Given the description of an element on the screen output the (x, y) to click on. 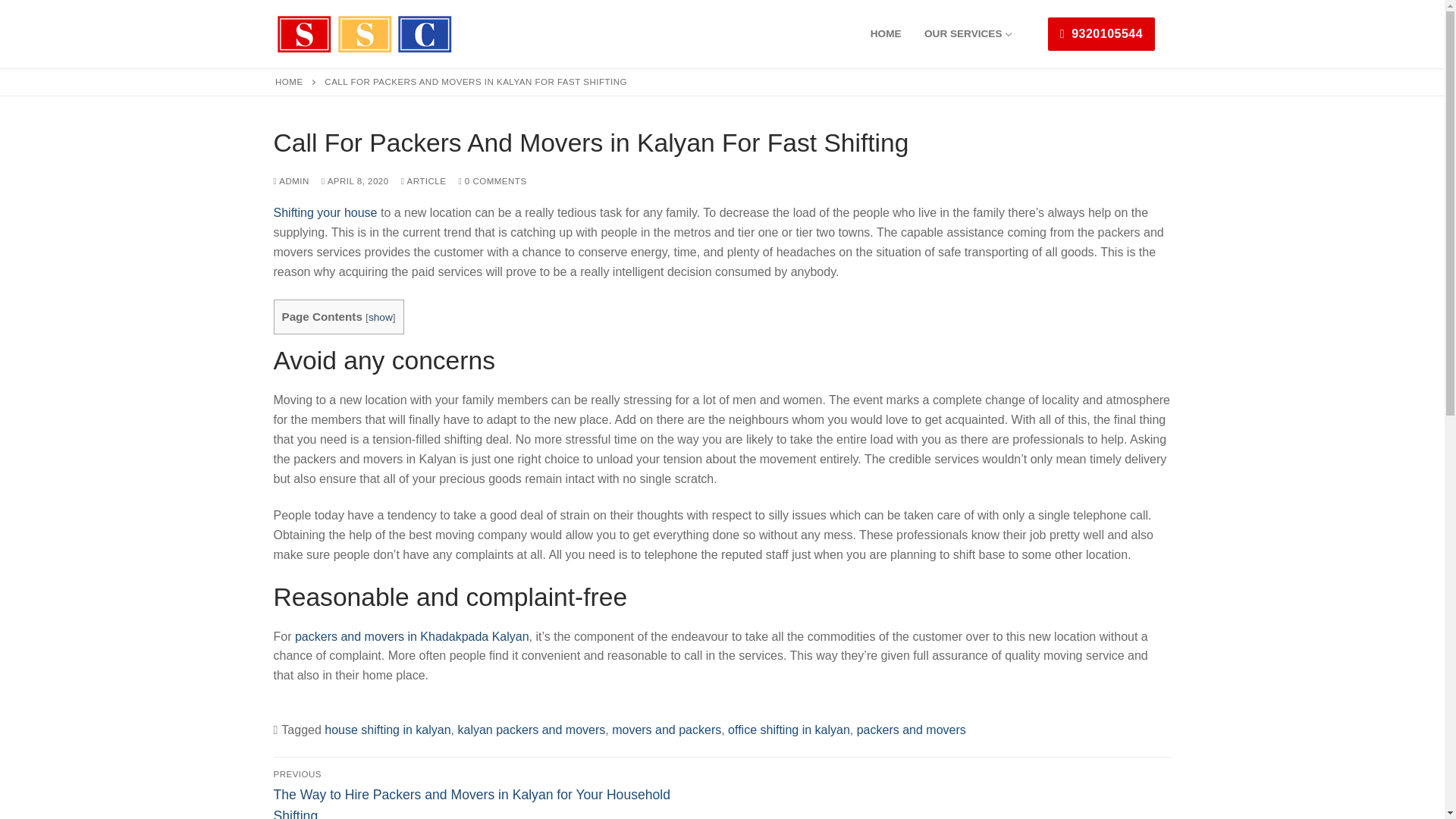
packers and movers in Khadakpada Kalyan (412, 635)
Shifting your house (325, 212)
ARTICLE (423, 180)
HOME (885, 33)
office shifting in kalyan (789, 729)
kalyan packers and movers (531, 729)
packers and movers (911, 729)
ADMIN (290, 180)
0 COMMENTS (491, 180)
APRIL 8, 2020 (354, 180)
movers and packers (665, 729)
9320105544 (1101, 33)
show (380, 317)
house shifting in kalyan (386, 729)
